Given the description of an element on the screen output the (x, y) to click on. 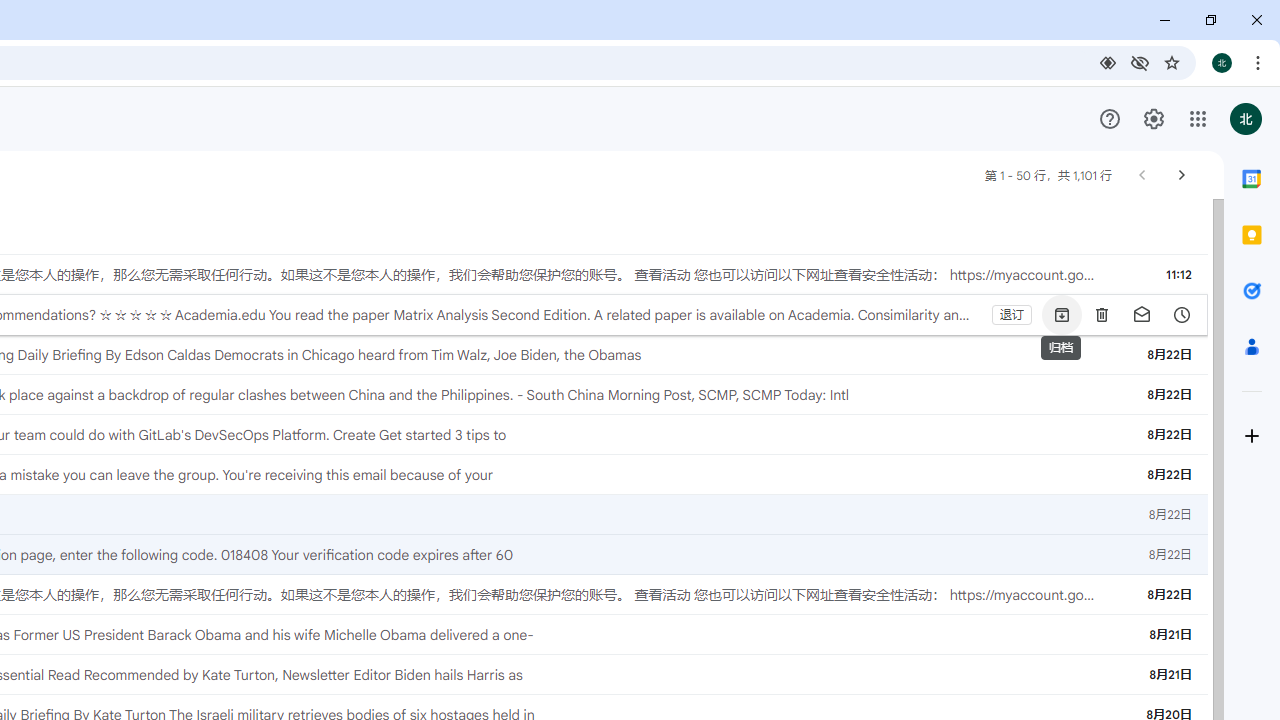
AutomationID: \:2s (1121, 314)
page wants to install a service handler. (1107, 62)
Keep (1251, 234)
Tasks (1251, 290)
